Given the description of an element on the screen output the (x, y) to click on. 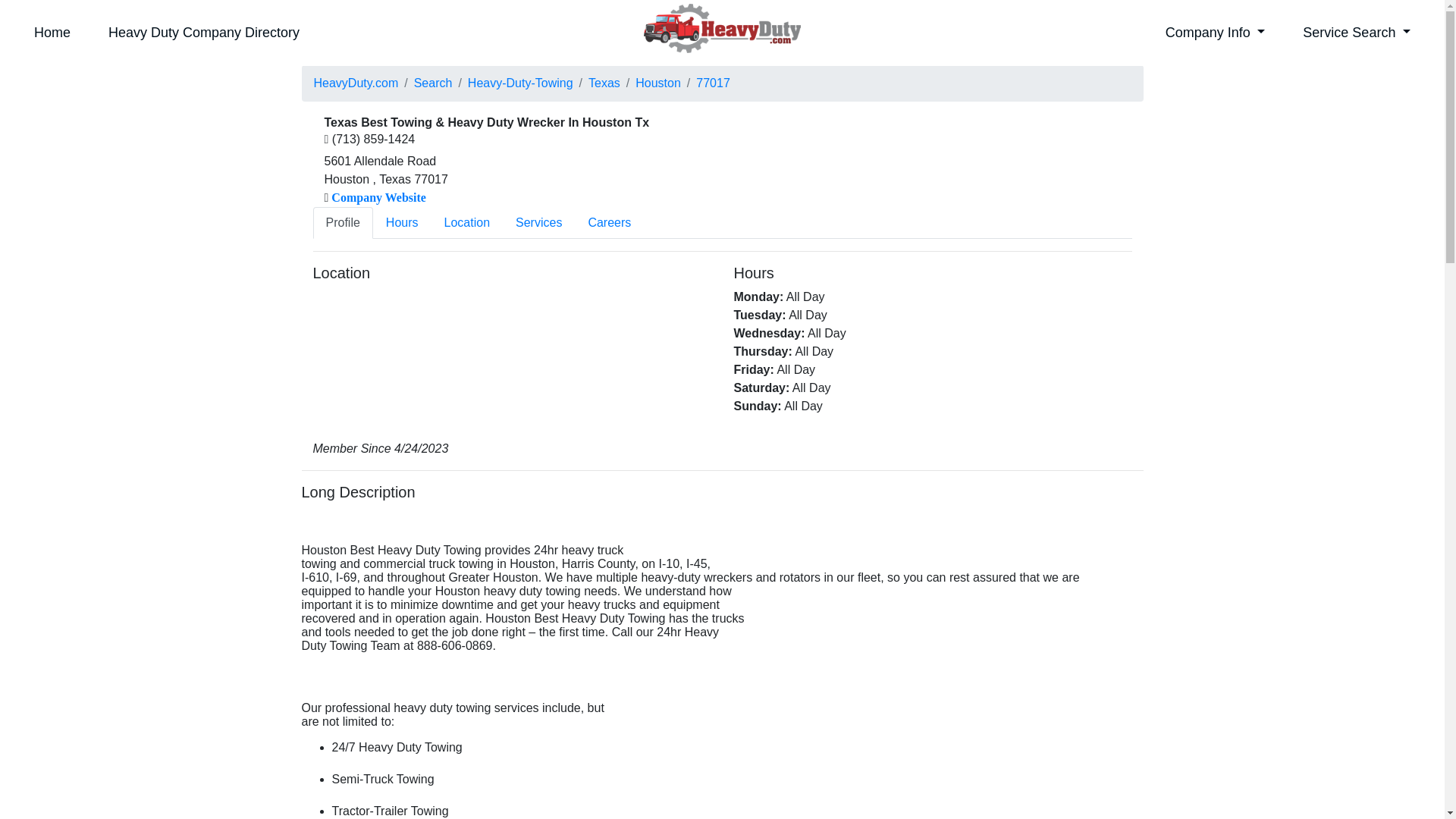
Services (538, 223)
Service Search (1356, 32)
Heavy Duty Company Directory (203, 32)
Profile (342, 223)
Home (51, 32)
Heavy-Duty-Towing (520, 82)
Company Info (1215, 32)
Hours (401, 223)
HeavyDuty.com (356, 82)
Location (466, 223)
NO (78, 11)
Houston (657, 82)
77017 (712, 82)
 Company Website (377, 196)
NO (239, 11)
